Given the description of an element on the screen output the (x, y) to click on. 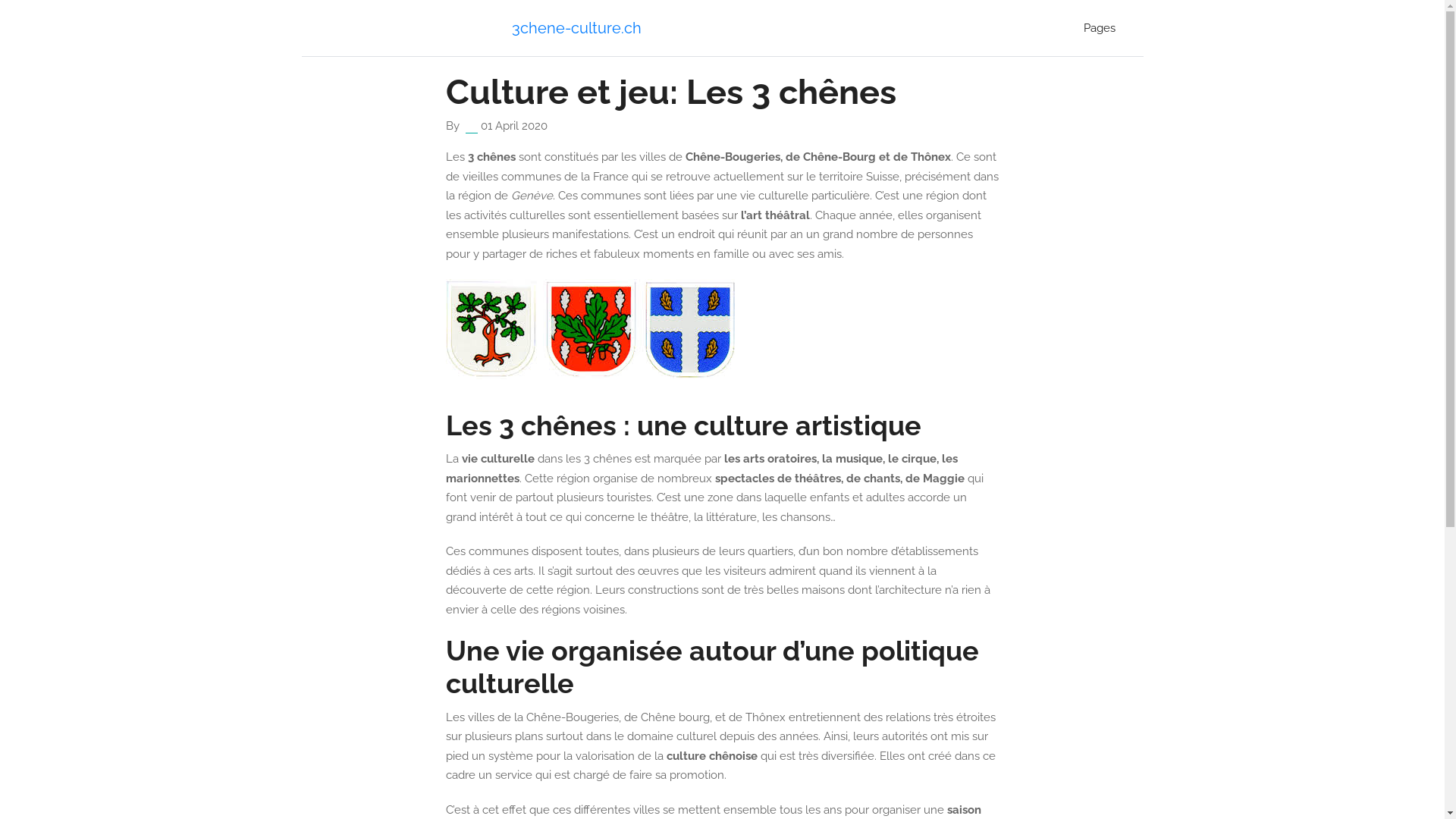
3chene-culture.ch Element type: text (576, 27)
Pages Element type: text (1099, 28)
